Given the description of an element on the screen output the (x, y) to click on. 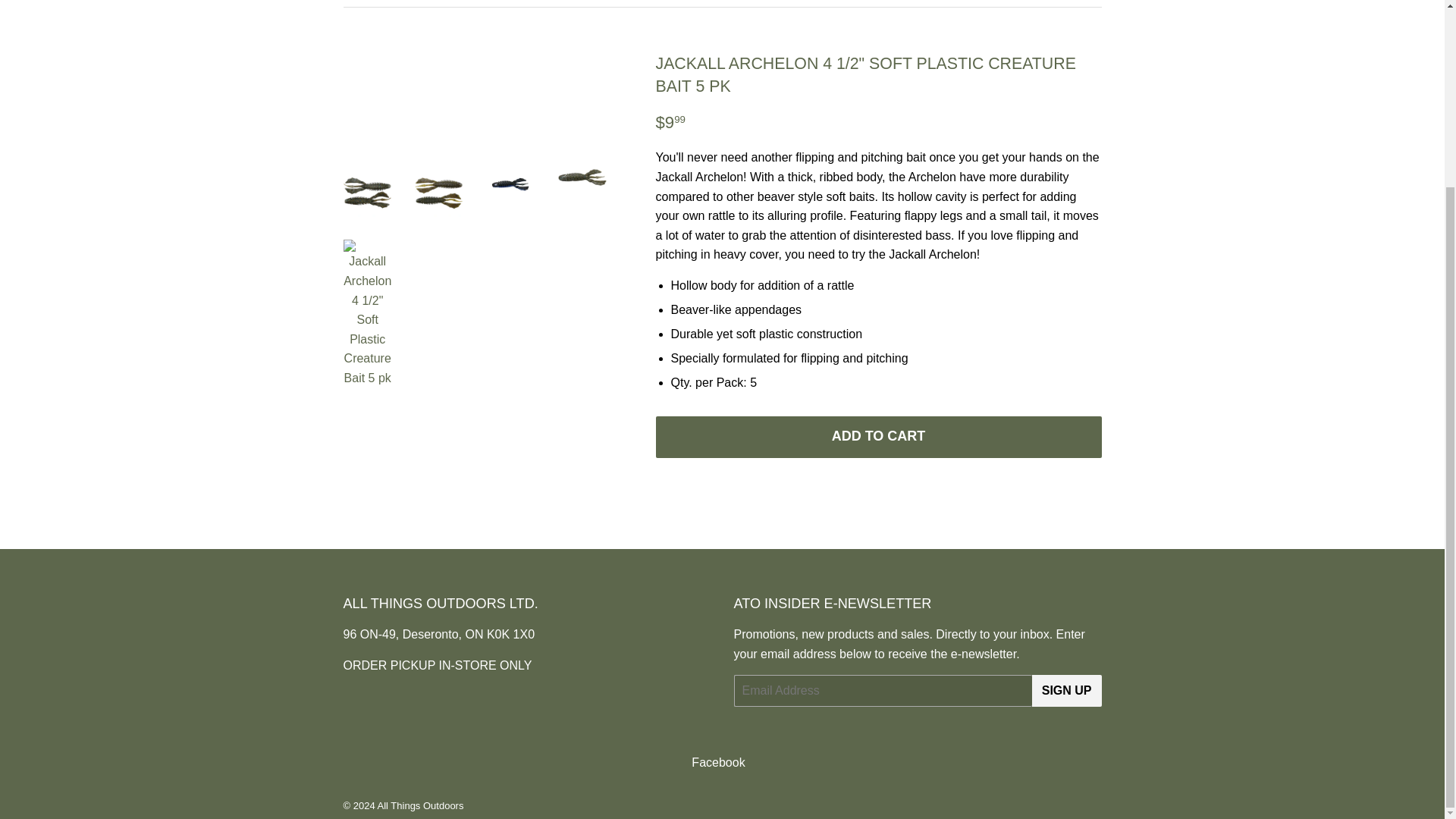
Back to the frontpage (358, 3)
All Things Outdoors on Facebook (717, 762)
